Given the description of an element on the screen output the (x, y) to click on. 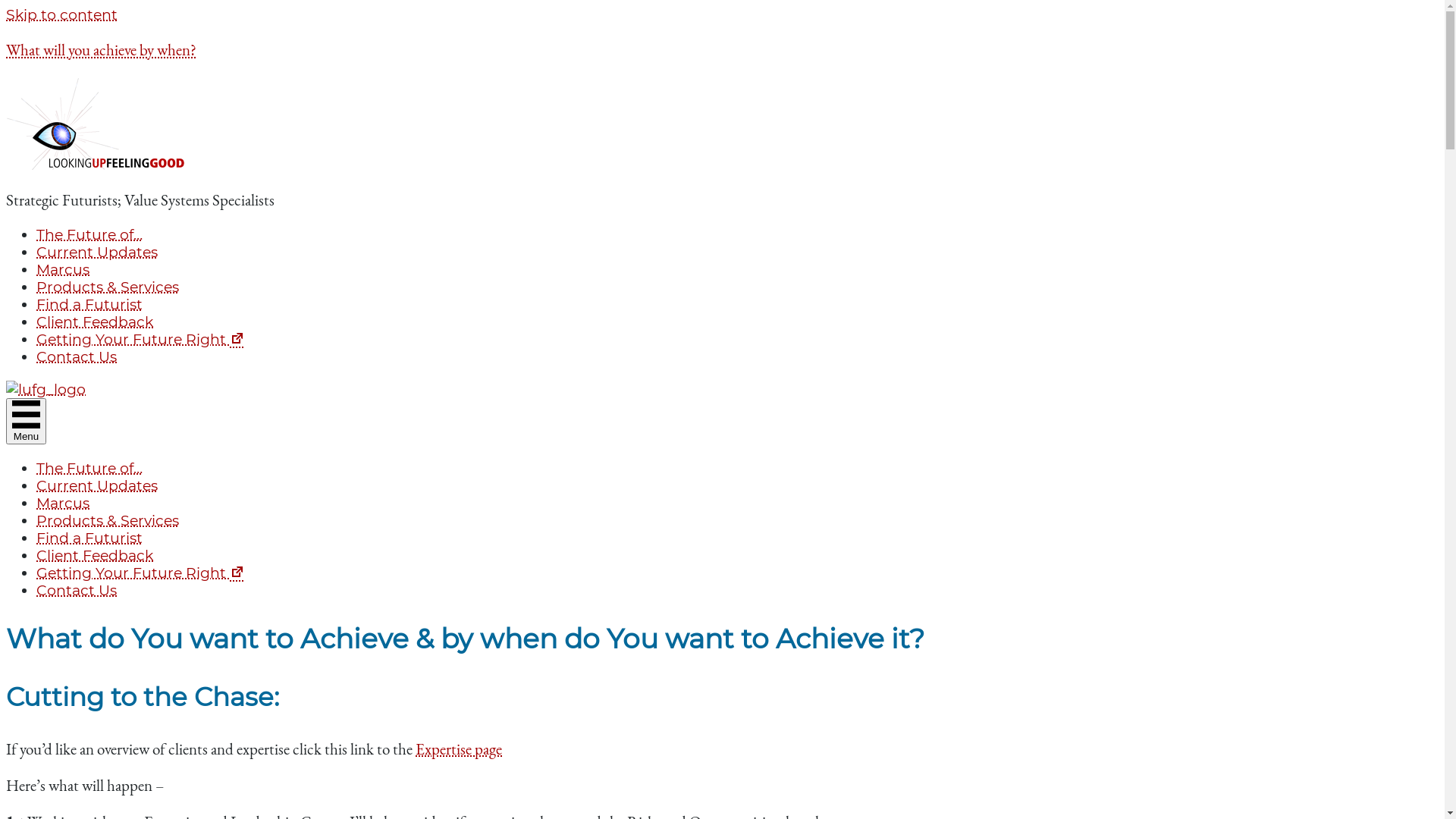
lufg_logo Element type: hover (101, 122)
Marcus Element type: text (62, 502)
Products & Services Element type: text (107, 520)
Find a Futurist Element type: text (89, 304)
Skip to content Element type: text (61, 14)
What will you achieve by when? Element type: text (101, 49)
Find a Futurist Element type: text (89, 537)
Contact Us Element type: text (76, 356)
Menu Element type: text (26, 421)
Getting Your Future Right Element type: text (140, 339)
Contact Us Element type: text (76, 590)
Expertise page Element type: text (458, 748)
Products & Services Element type: text (107, 286)
Marcus Element type: text (62, 269)
lufg_logo Element type: hover (45, 389)
Current Updates Element type: text (96, 485)
Client Feedback Element type: text (94, 555)
Getting Your Future Right Element type: text (140, 572)
Client Feedback Element type: text (94, 321)
Current Updates Element type: text (96, 251)
